Given the description of an element on the screen output the (x, y) to click on. 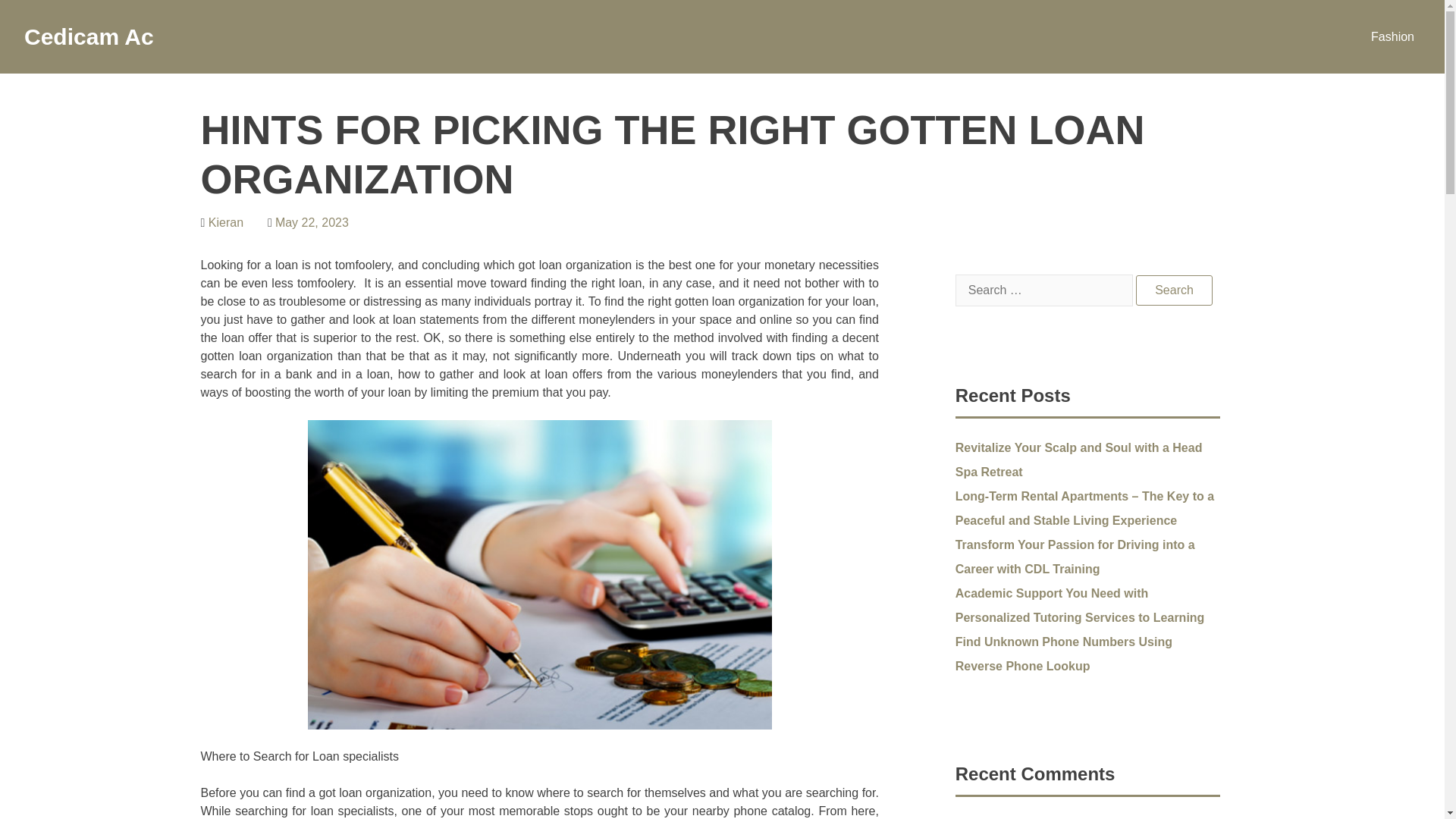
Search (1173, 290)
May 22, 2023 (312, 222)
Fashion (1393, 36)
Search (1173, 290)
Kieran (225, 222)
Revitalize Your Scalp and Soul with a Head Spa Retreat (1078, 459)
Search (1173, 290)
Find Unknown Phone Numbers Using Reverse Phone Lookup (1063, 653)
